Given the description of an element on the screen output the (x, y) to click on. 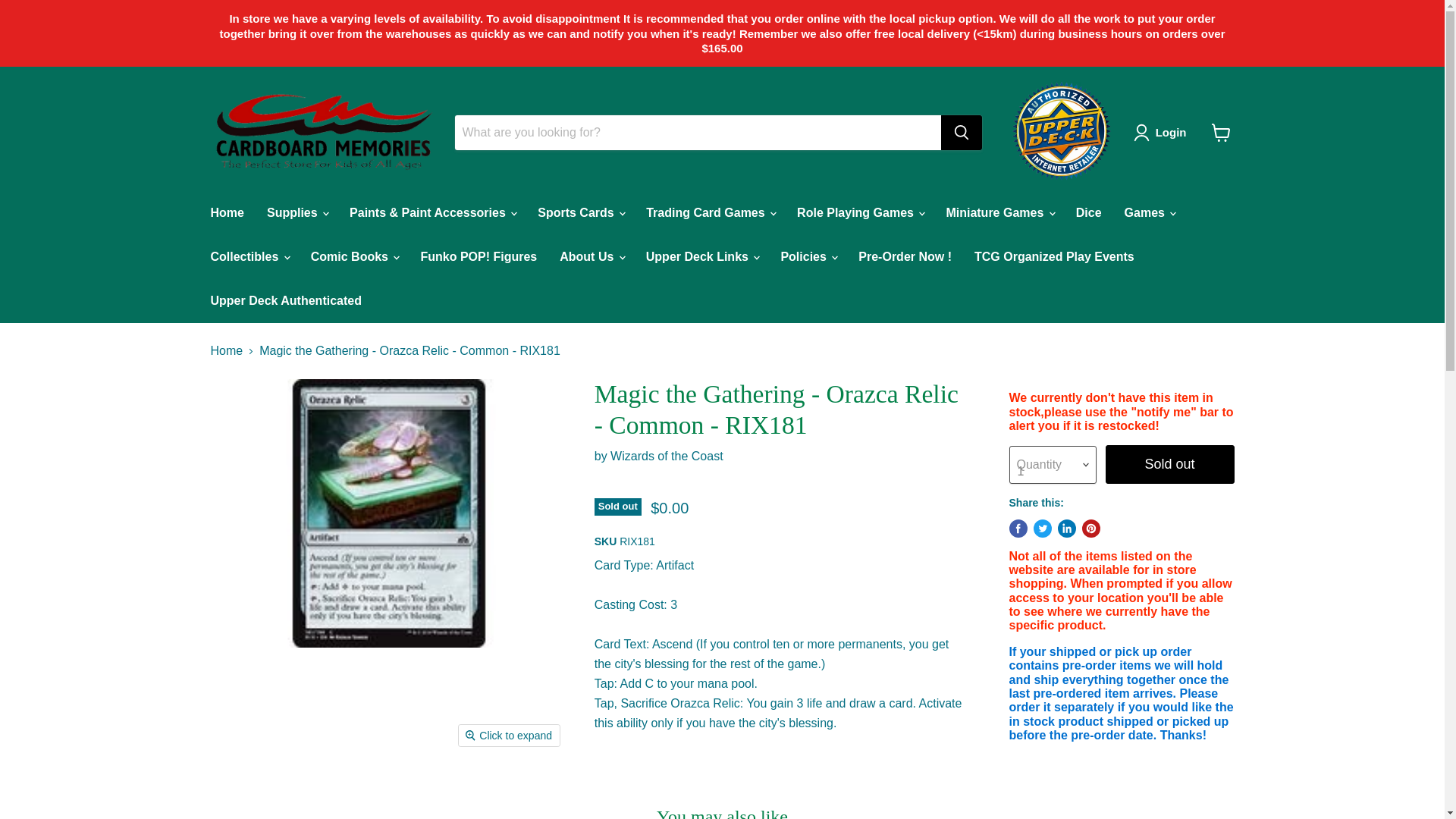
Wizards of the Coast (666, 455)
Home (226, 213)
Login (1171, 132)
View cart (1221, 132)
